Given the description of an element on the screen output the (x, y) to click on. 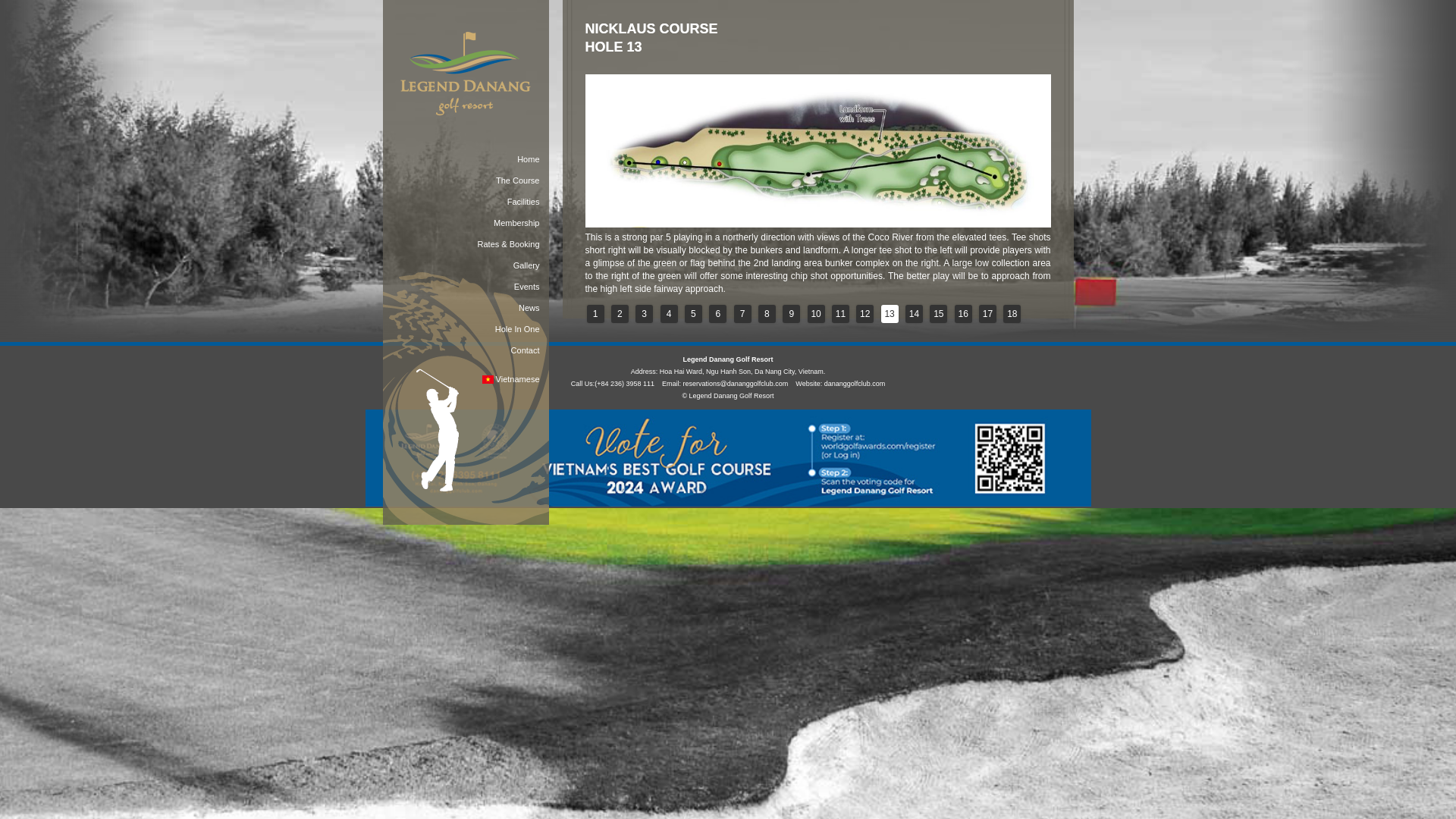
1 (595, 313)
3 (643, 313)
2 (619, 313)
6 (717, 313)
Hole 13 (818, 150)
Membership (464, 222)
7 (742, 313)
News (464, 307)
8 (767, 313)
Vietnamese (464, 378)
